Given the description of an element on the screen output the (x, y) to click on. 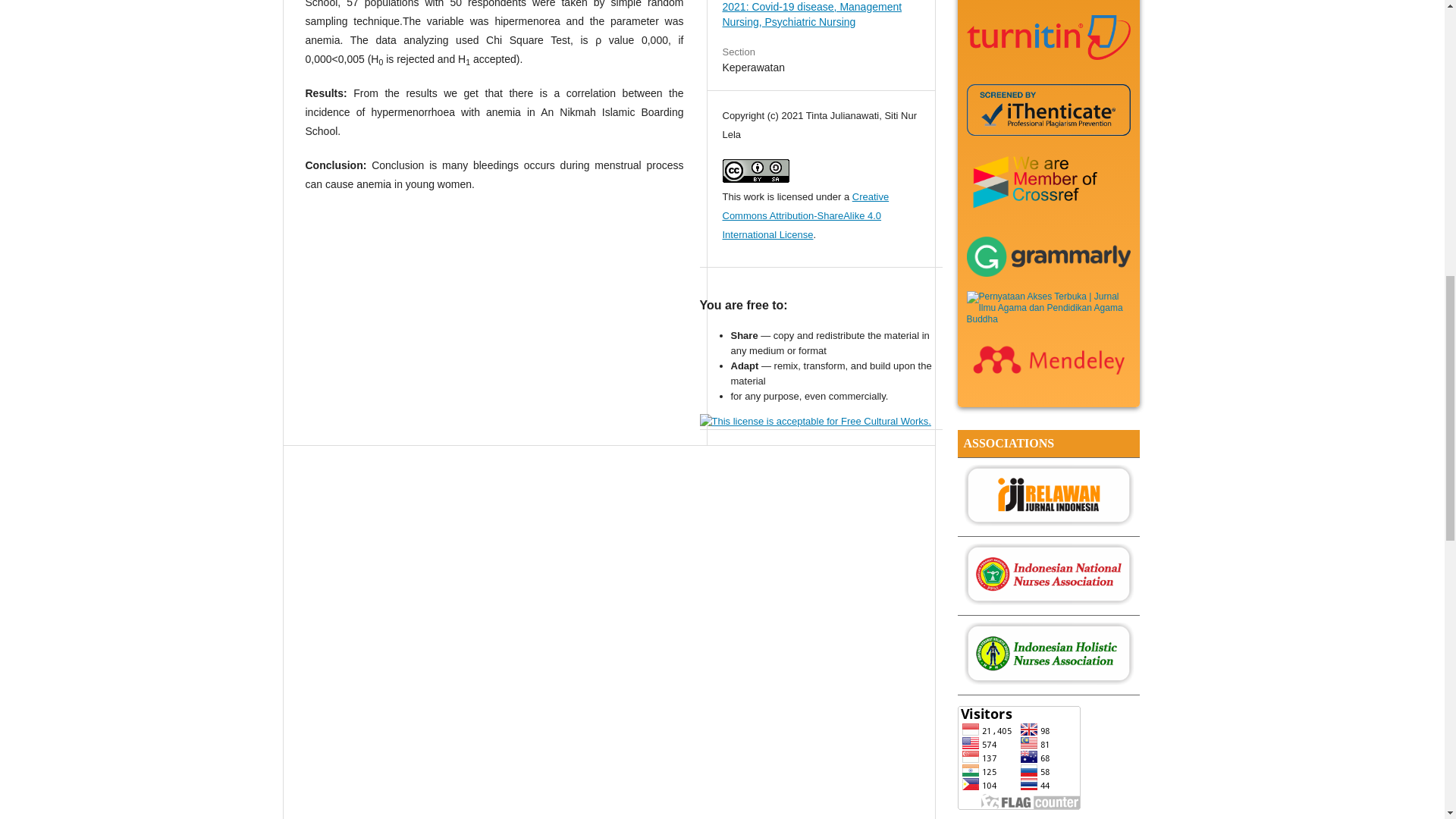
ppni (1047, 601)
RJI (1047, 522)
